Given the description of an element on the screen output the (x, y) to click on. 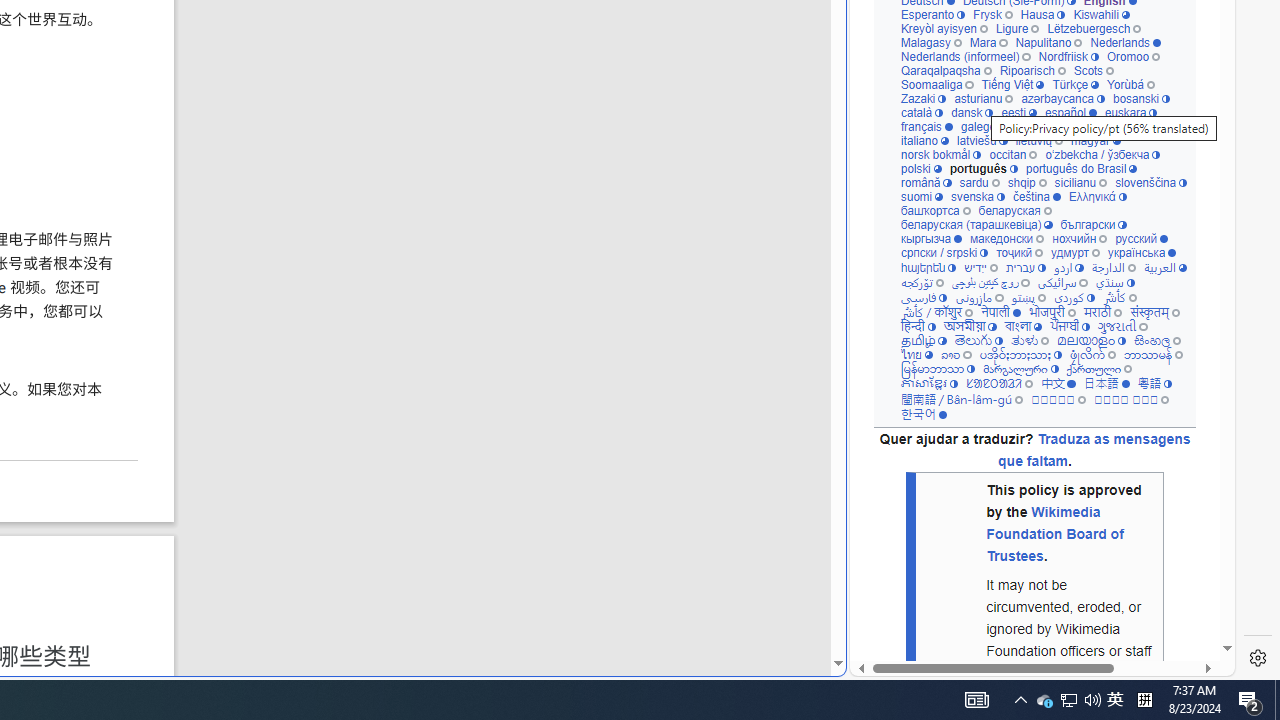
Napulitano (1048, 42)
dansk (972, 112)
Qaraqalpaqsha (945, 70)
italiano (923, 140)
